Given the description of an element on the screen output the (x, y) to click on. 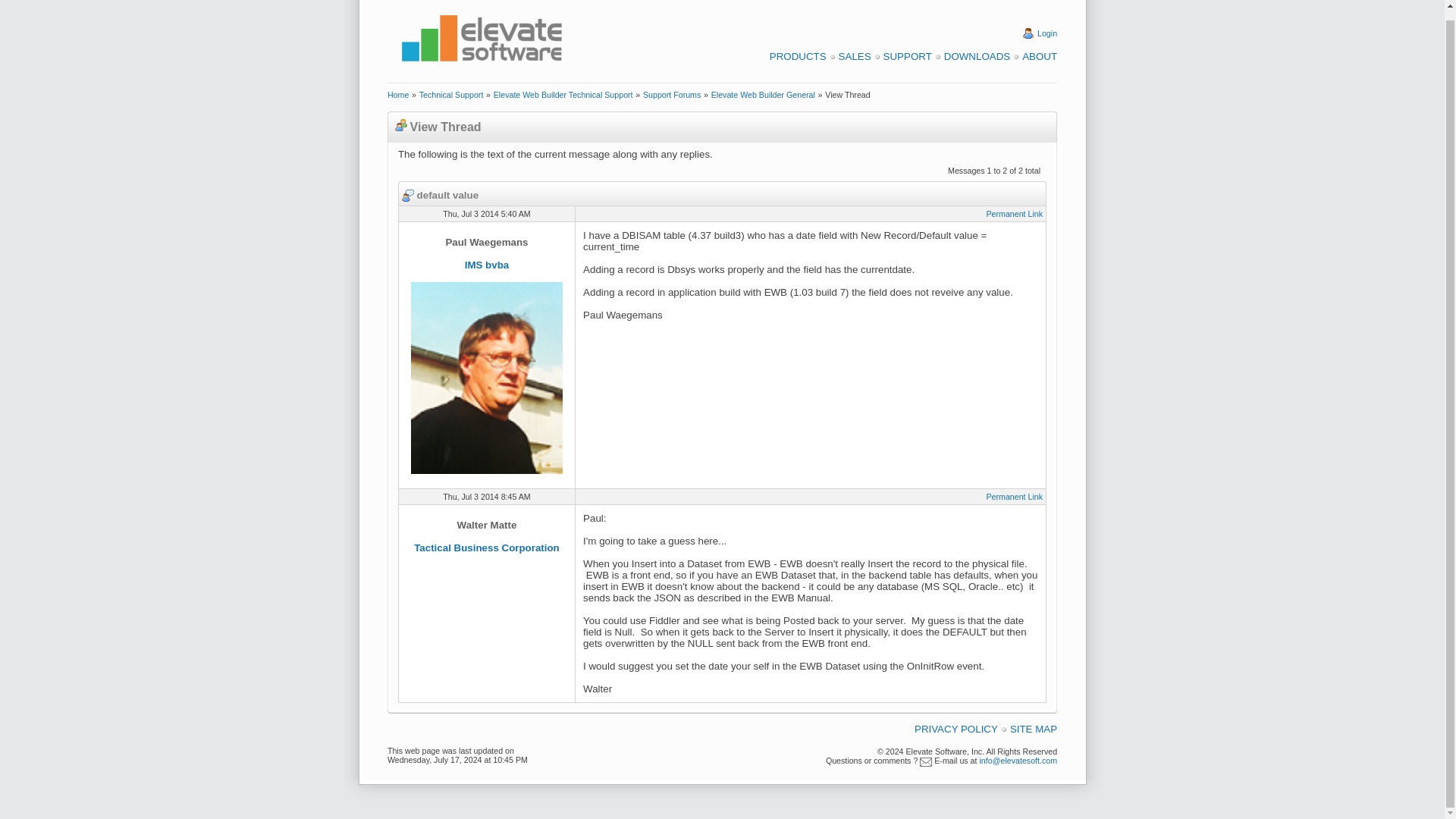
Permanent Link (1013, 496)
Home (398, 94)
PRIVACY POLICY (955, 728)
Login (1046, 32)
Thu, Jul 3 2014 8:45 AM (486, 496)
SITE MAP (1033, 728)
Support Forums (671, 94)
Elevate Web Builder General (763, 94)
 default value (440, 194)
Tactical Business Corporation (486, 547)
SUPPORT (907, 56)
IMS bvba (486, 265)
Permanent Link (1013, 213)
Technical Support (451, 94)
SALES (854, 56)
